Given the description of an element on the screen output the (x, y) to click on. 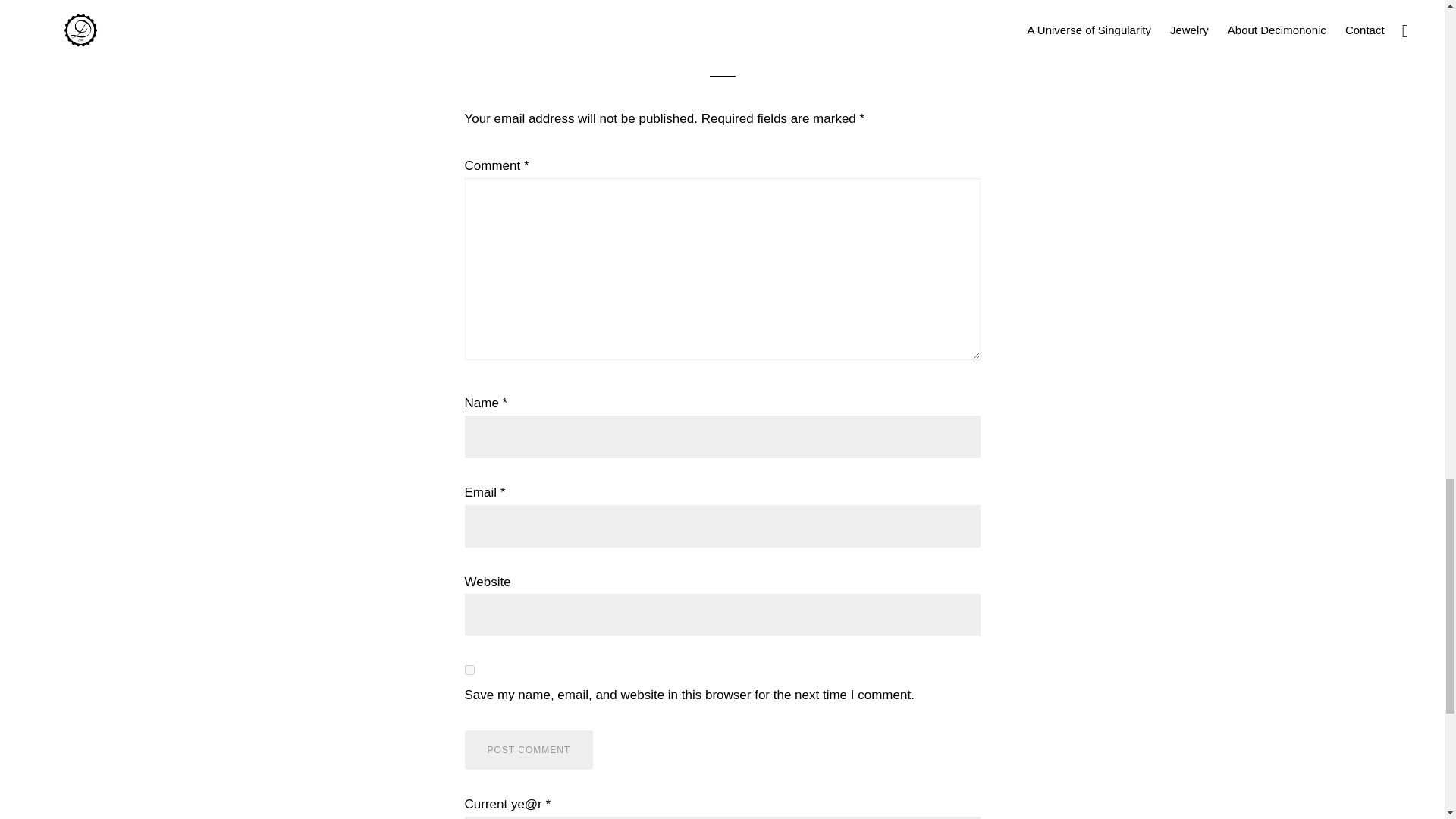
Post Comment (528, 749)
yes (469, 669)
Post Comment (528, 749)
